Given the description of an element on the screen output the (x, y) to click on. 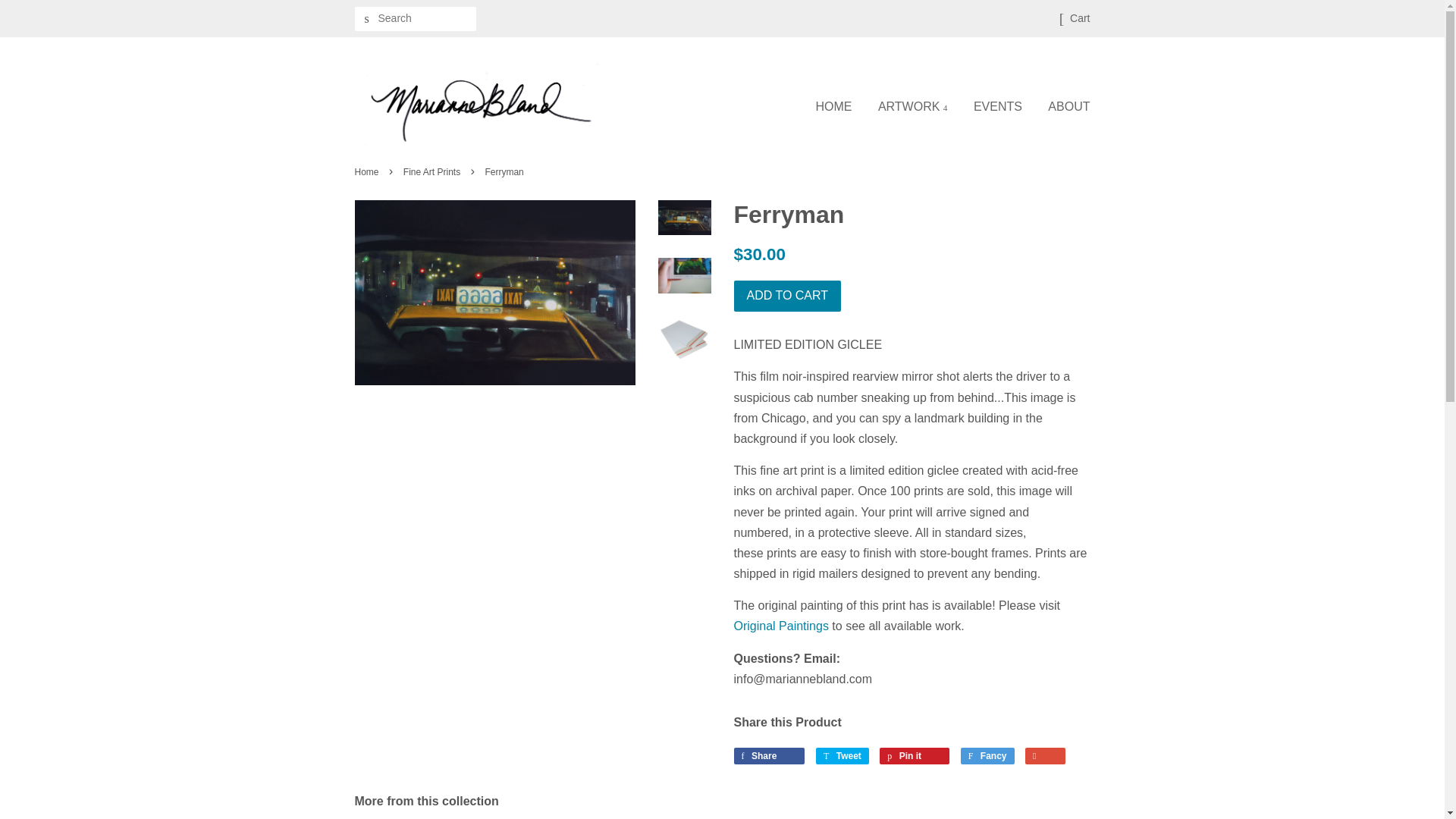
SEARCH (366, 18)
Home (987, 755)
Fine Art Prints (368, 172)
ADD TO CART (433, 172)
ARTWORK (914, 755)
EVENTS (769, 755)
Original Paintings (842, 755)
Tweet on Twitter (787, 296)
Pin on Pinterest (912, 106)
Add to Fancy (997, 106)
Cart (780, 625)
